Given the description of an element on the screen output the (x, y) to click on. 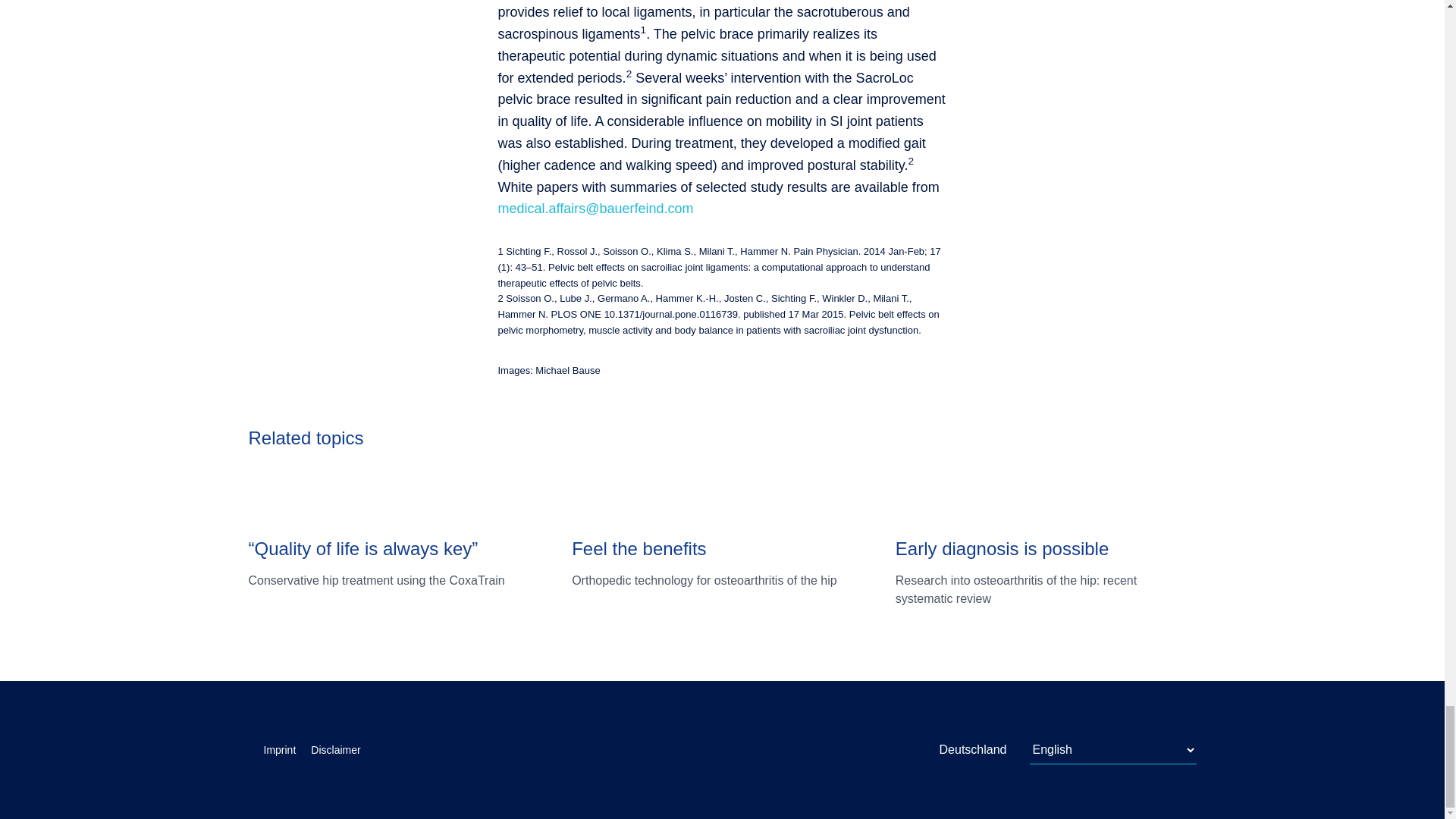
Disclaimer (335, 750)
Imprint (280, 750)
